Given the description of an element on the screen output the (x, y) to click on. 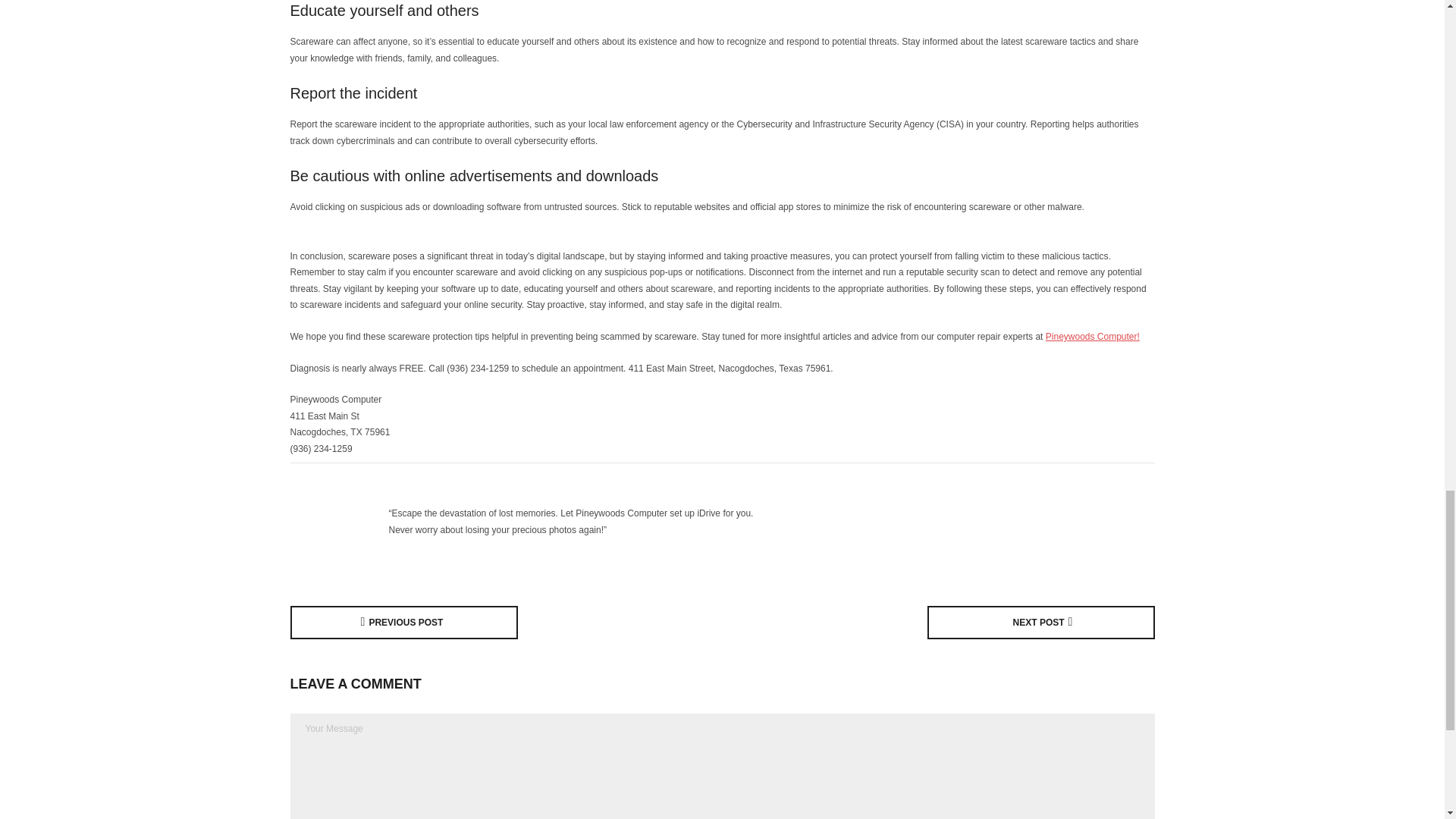
Pineywoods Computer! (1092, 336)
PREVIOUS POST (402, 622)
NEXT POST (1040, 622)
Authorized Reseller (334, 522)
